Given the description of an element on the screen output the (x, y) to click on. 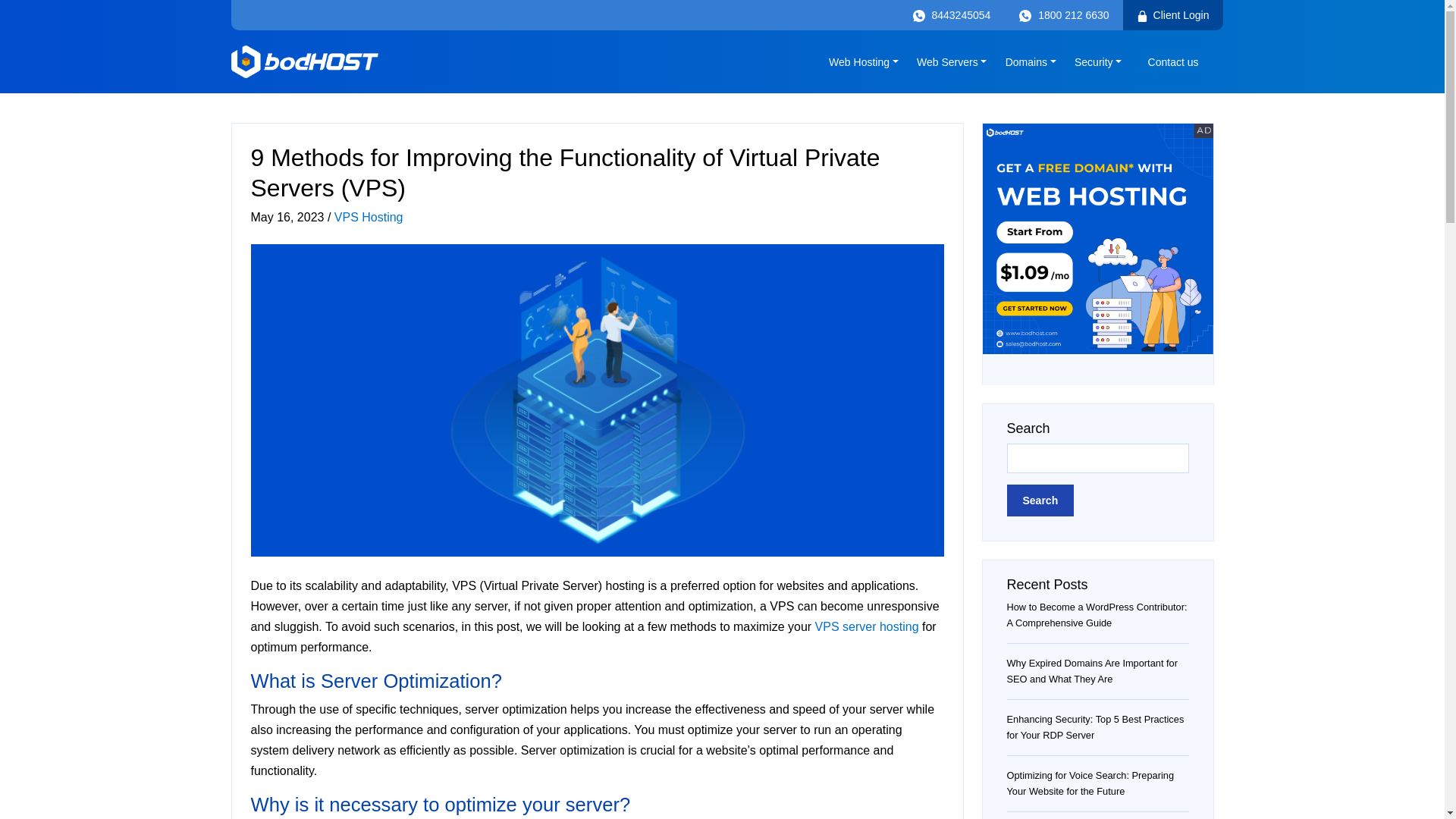
Domains (1030, 61)
VPS server hosting (866, 626)
Why Expired Domains Are Important for SEO and What They Are (1092, 670)
Web Hosting (863, 61)
Security (1098, 61)
Enhancing Security: Top 5 Best Practices for Your RDP Server (1096, 726)
1800 212 6630 (1063, 15)
Client Login (1172, 15)
Search (1040, 500)
Contact us (1173, 61)
